Given the description of an element on the screen output the (x, y) to click on. 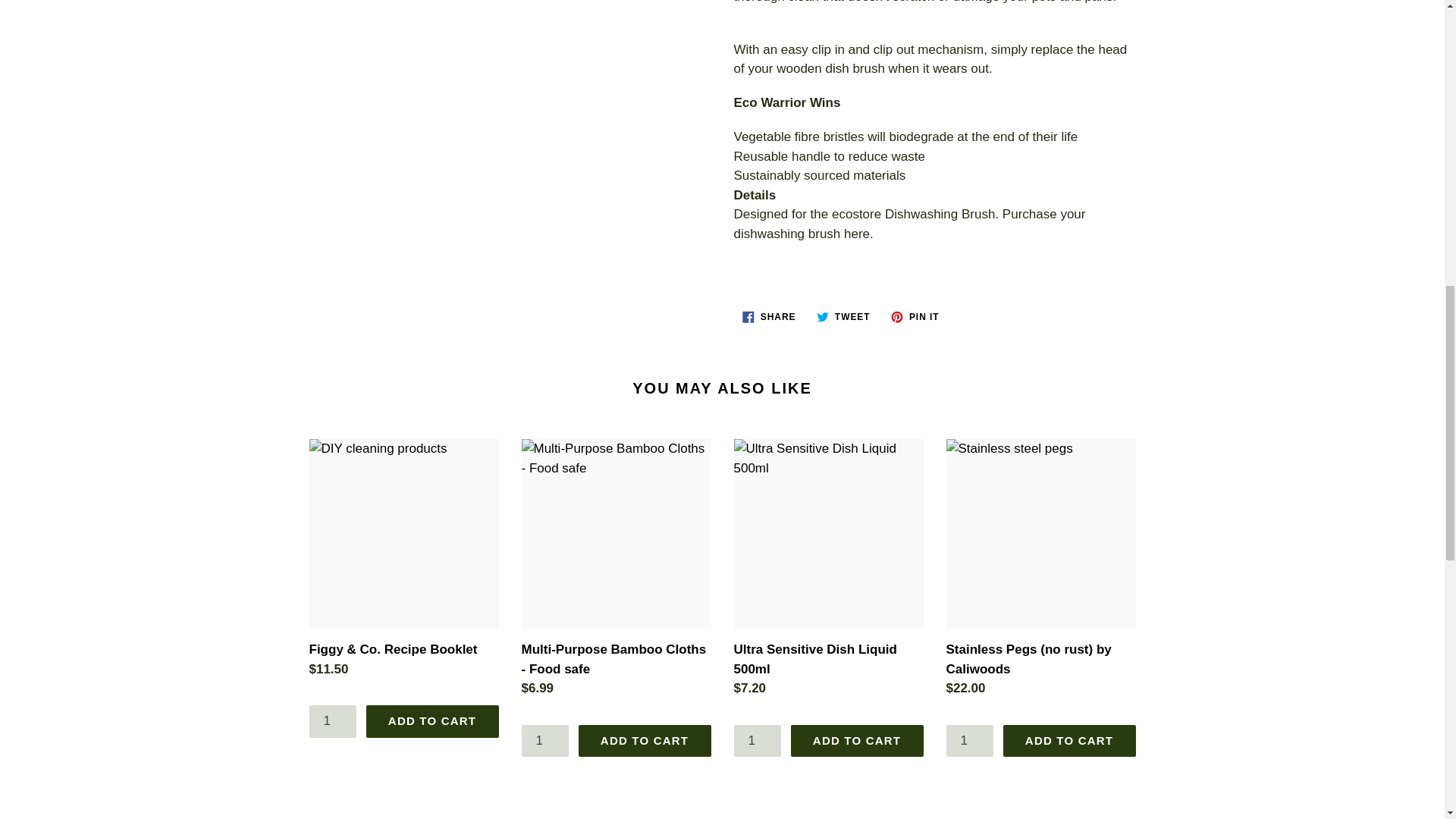
1 (970, 740)
Add to cart (856, 740)
Add to cart (644, 740)
1 (332, 721)
1 (545, 740)
Add to cart (431, 721)
Add to cart (1069, 740)
1 (757, 740)
